Given the description of an element on the screen output the (x, y) to click on. 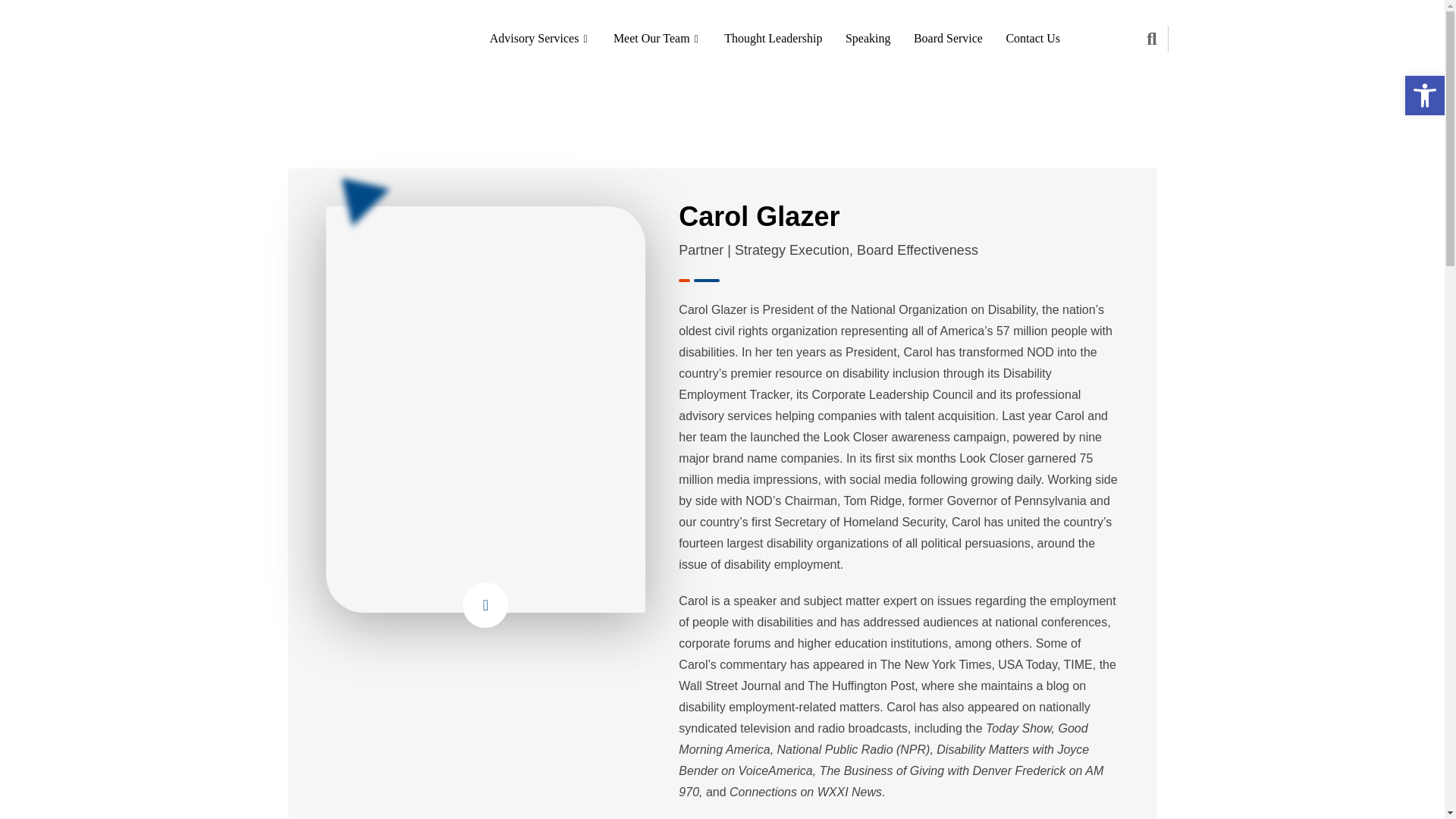
Advisory Services (539, 38)
Board Service (948, 38)
Contact Us (1032, 38)
Thought Leadership (772, 38)
Accessibility Tools (1424, 95)
Meet Our Team (657, 38)
